Given the description of an element on the screen output the (x, y) to click on. 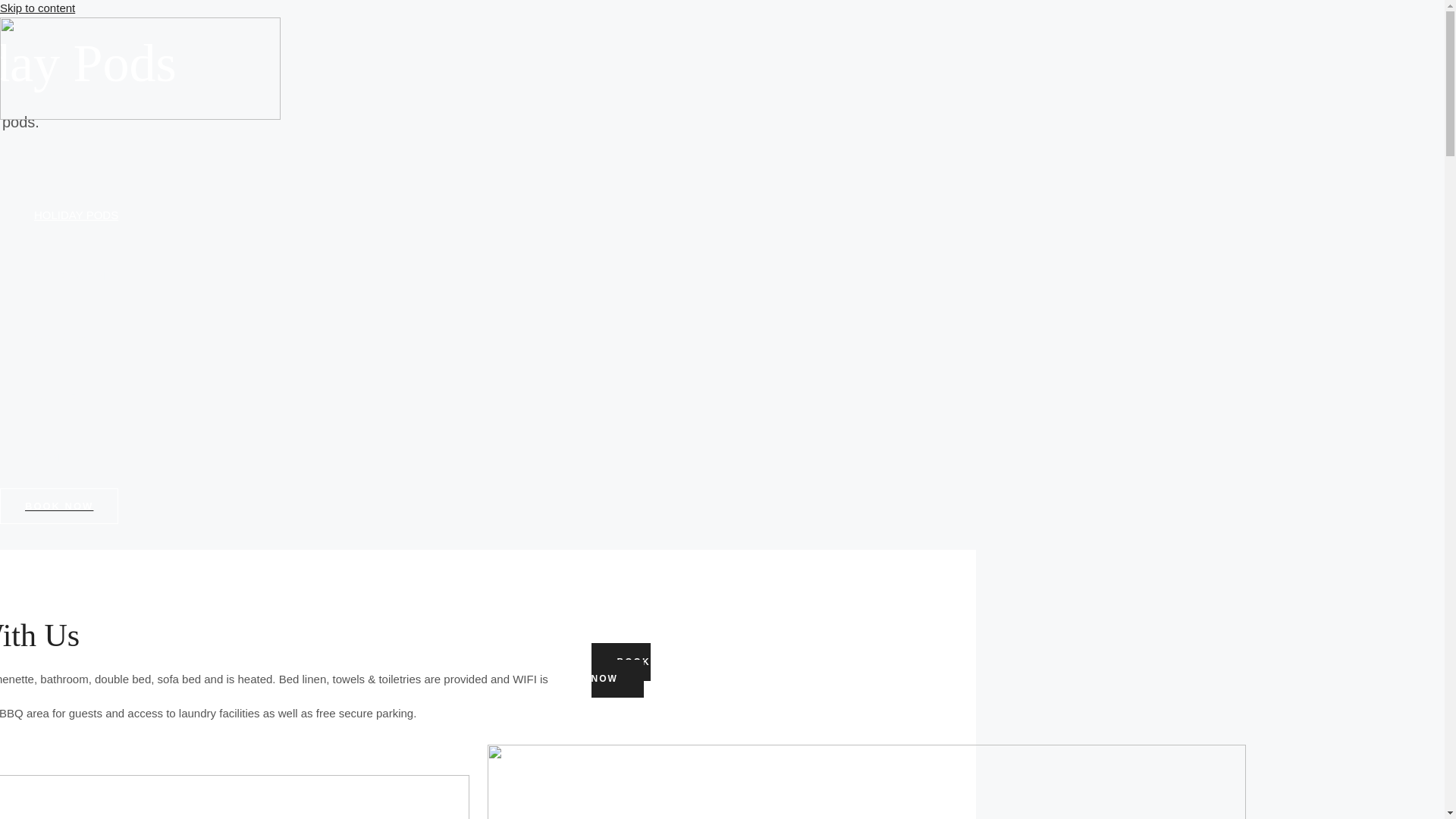
Skip to content (37, 7)
HOME (76, 154)
GALLERY (76, 396)
BOOK NOW (58, 506)
WALKING (76, 336)
THE REGION (76, 275)
CONTACT (76, 457)
HOLIDAY PODS (76, 215)
Skip to content (37, 7)
BOOK NOW (620, 670)
